Given the description of an element on the screen output the (x, y) to click on. 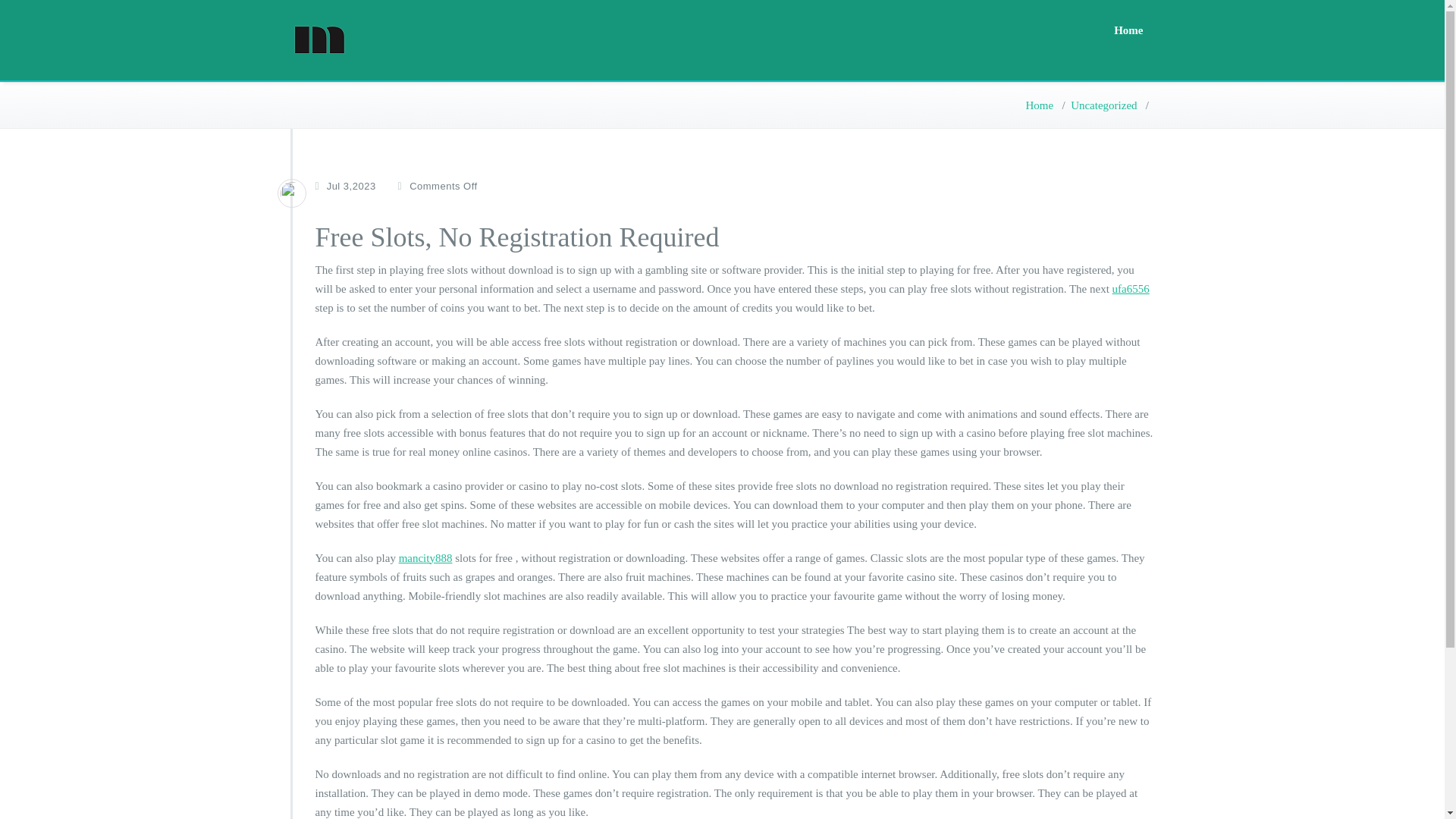
Home (1040, 105)
Uncategorized (1103, 105)
Jul 3,2023 (350, 186)
mancity888 (425, 558)
ufa6556 (1131, 288)
